Given the description of an element on the screen output the (x, y) to click on. 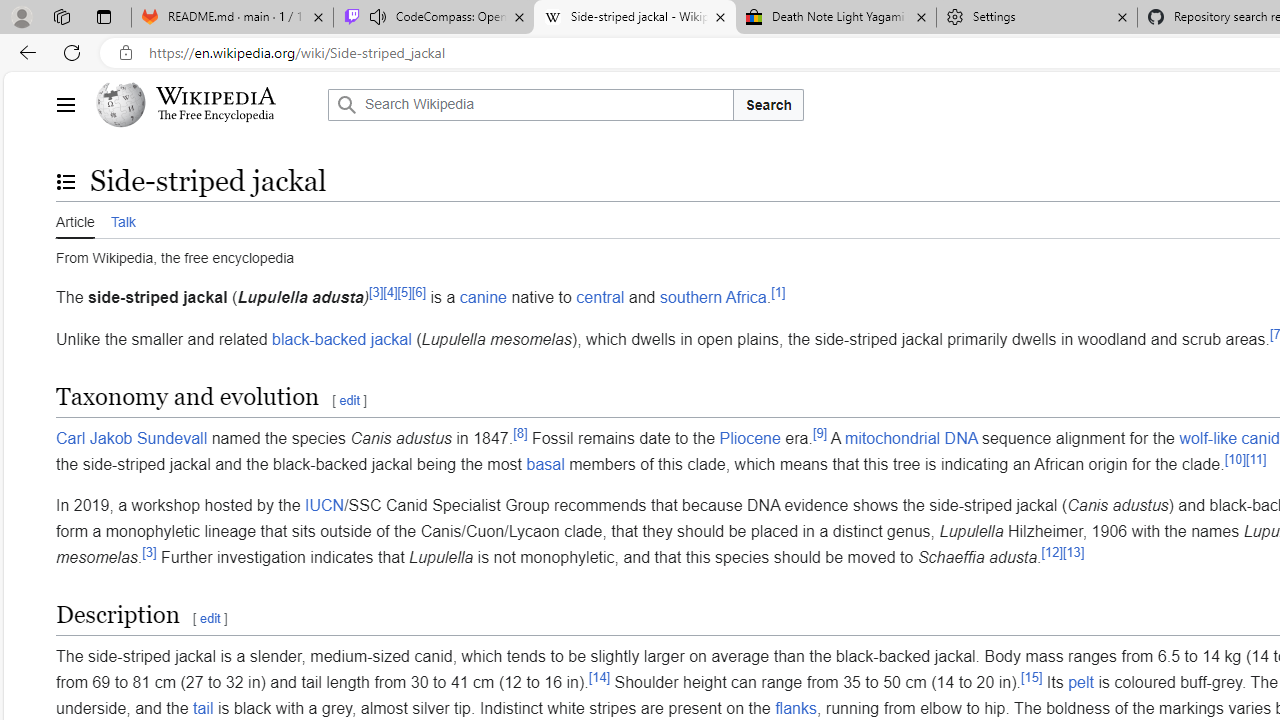
tail (203, 708)
black-backed jackal (341, 338)
IUCN (324, 505)
canine (482, 297)
flanks (795, 708)
Article (75, 219)
Pliocene (749, 438)
[10] (1234, 458)
[15] (1032, 676)
pelt (1080, 682)
Main menu (65, 104)
